Given the description of an element on the screen output the (x, y) to click on. 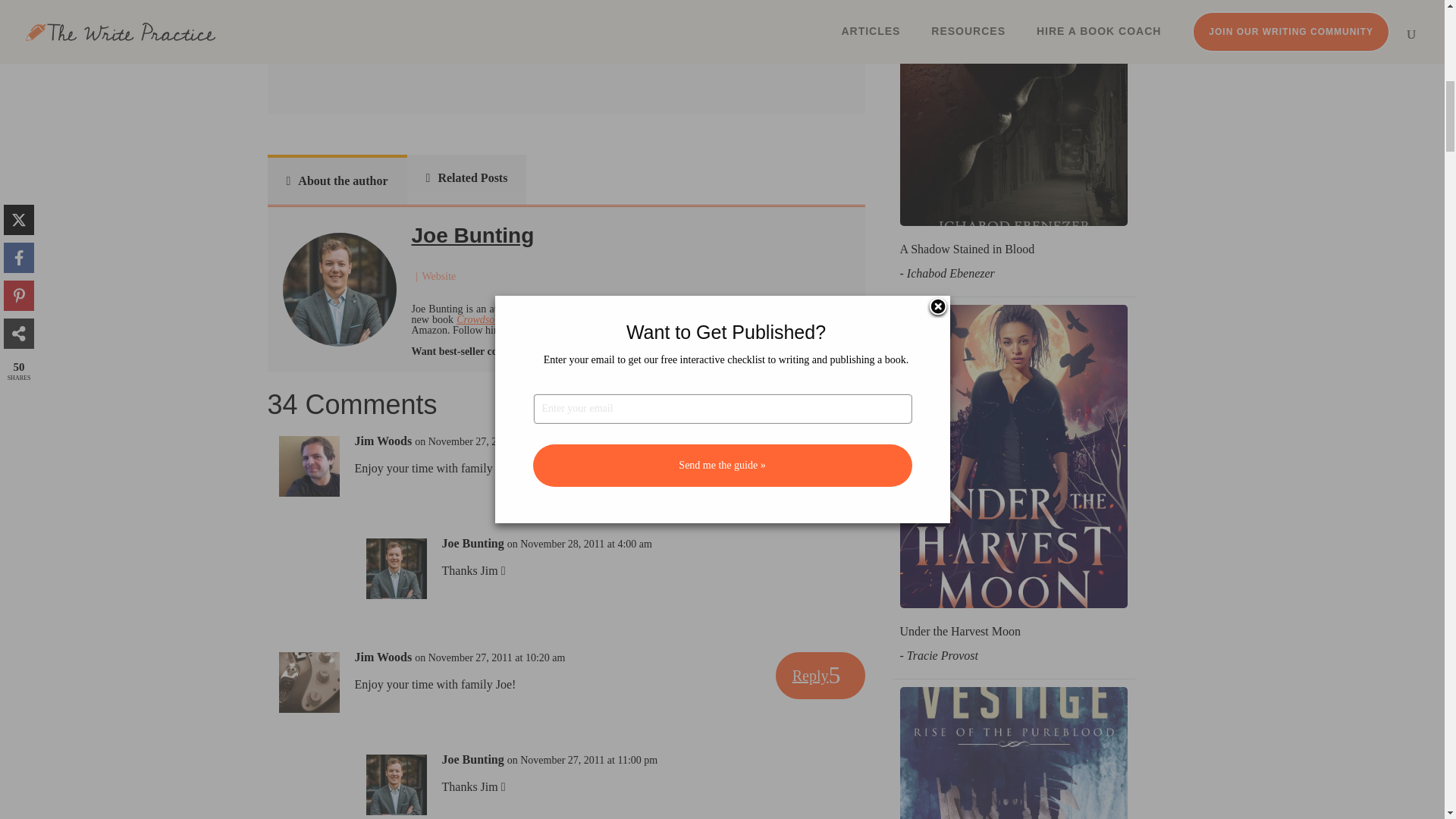
Under the Harvest Moon (959, 631)
Website (438, 276)
Joe Bunting (472, 235)
Joe Bunting (472, 759)
Reply (820, 459)
Instagram (539, 329)
Book Joe here. (566, 351)
Jim Woods (383, 657)
Jim Woods (383, 440)
A Shadow Stained in Blood (966, 248)
Crowdsourcing Paris (502, 319)
Joe Bunting (472, 543)
Reply (820, 675)
